Given the description of an element on the screen output the (x, y) to click on. 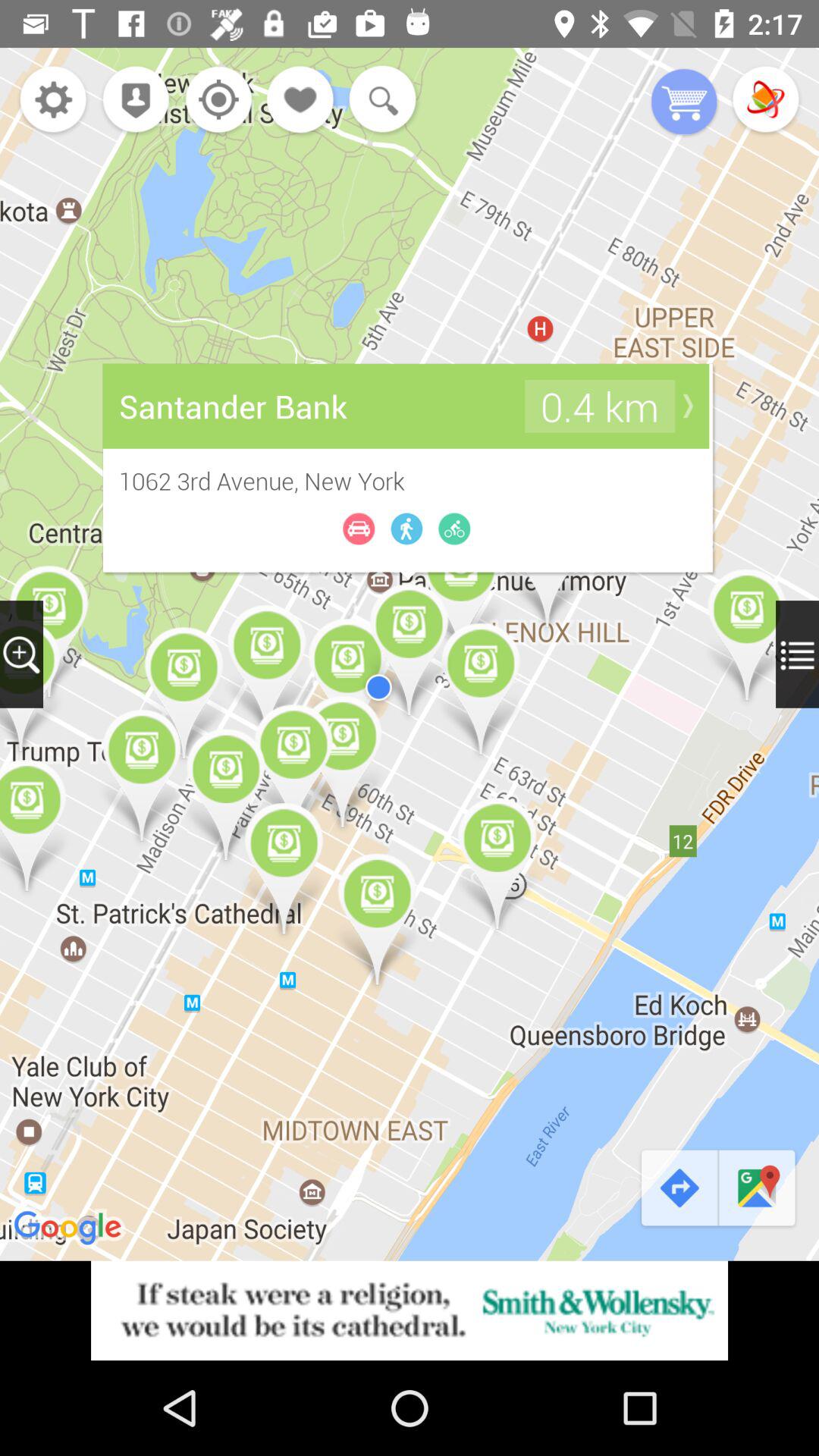
select option (765, 100)
